Given the description of an element on the screen output the (x, y) to click on. 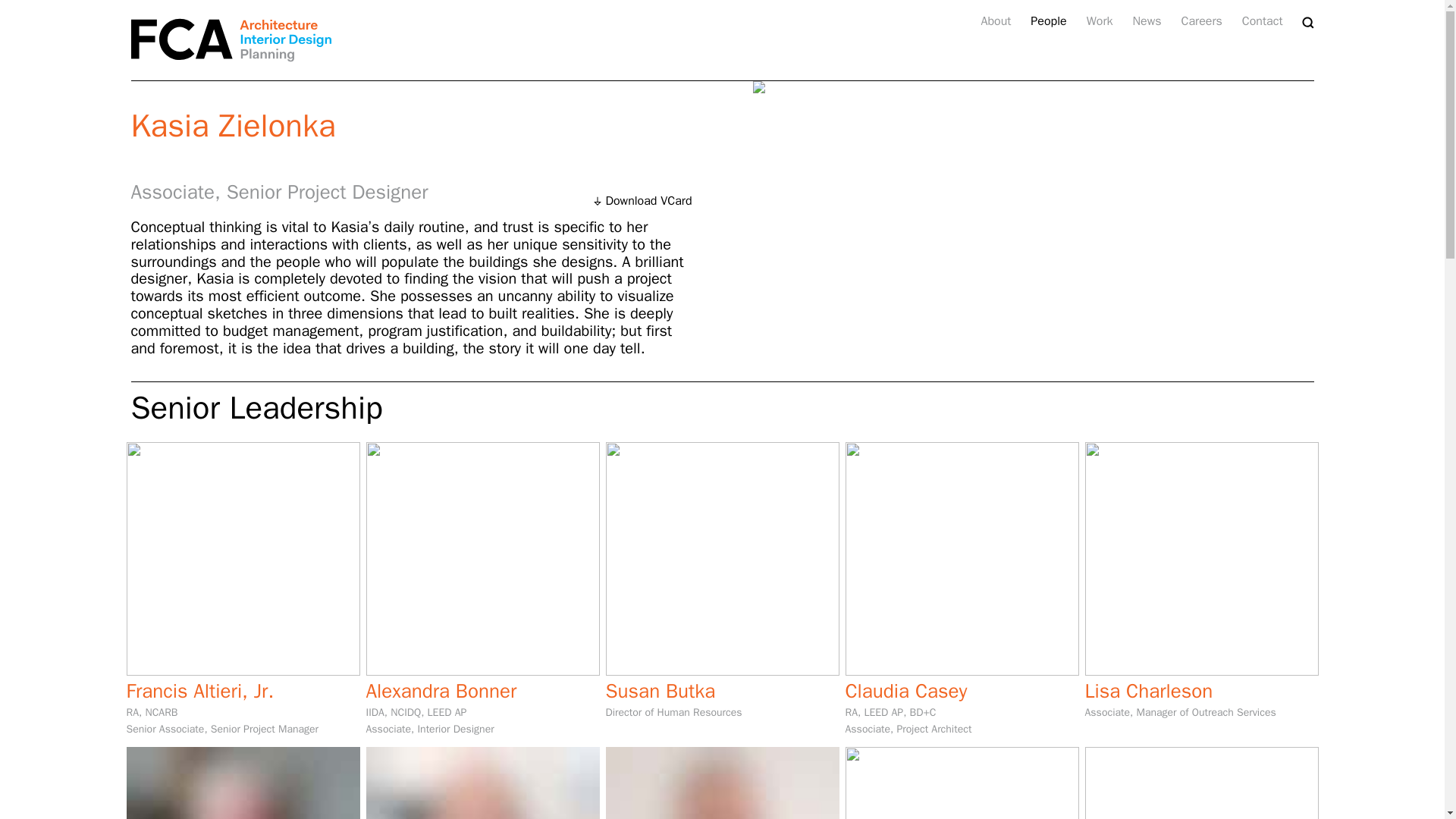
About (995, 20)
Work (1099, 20)
Contact (242, 782)
People (721, 782)
News (1261, 20)
Careers (1047, 20)
Download VCard (1146, 20)
